Given the description of an element on the screen output the (x, y) to click on. 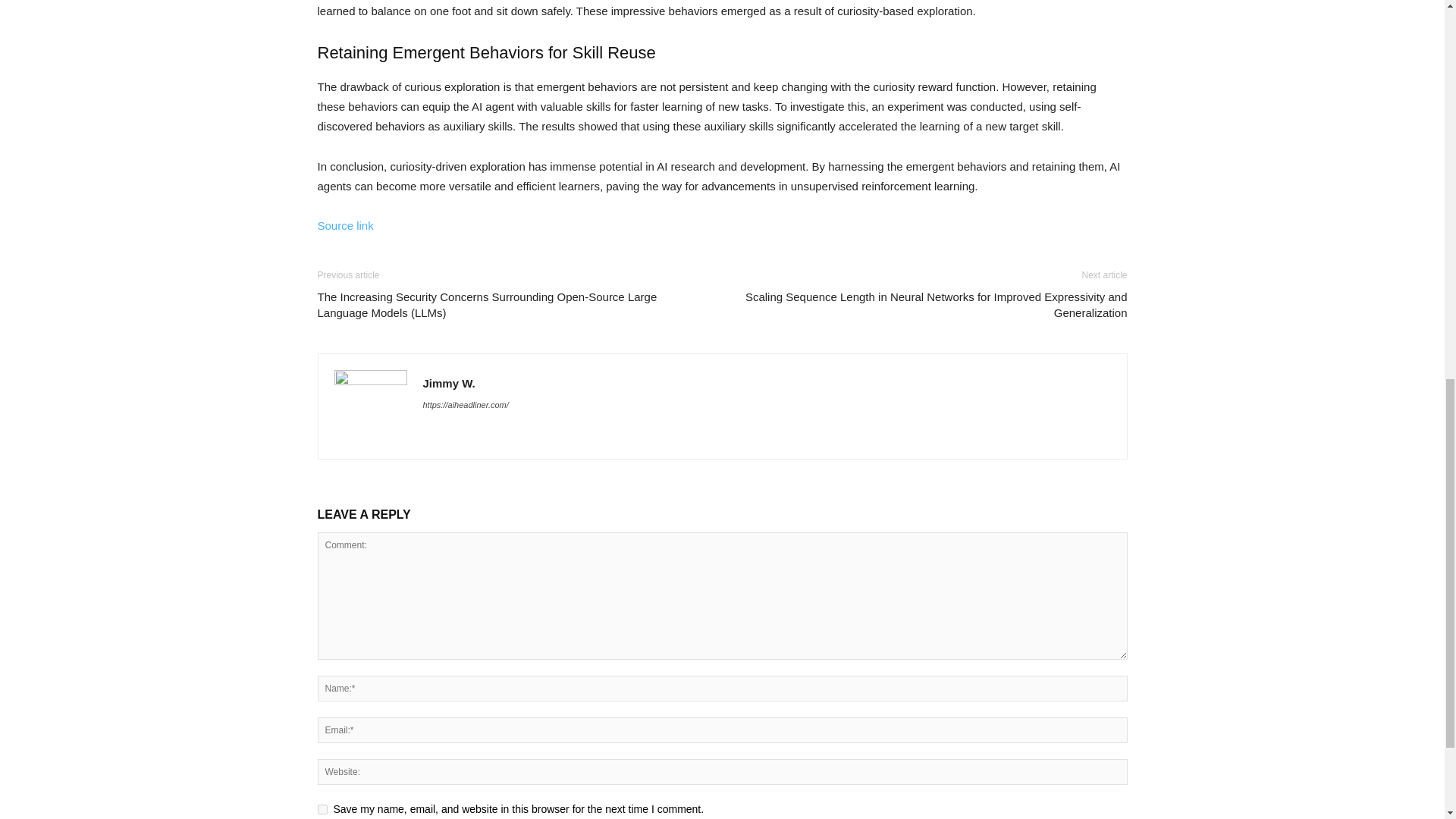
Source link (344, 225)
yes (321, 809)
Jimmy W. (449, 382)
